Given the description of an element on the screen output the (x, y) to click on. 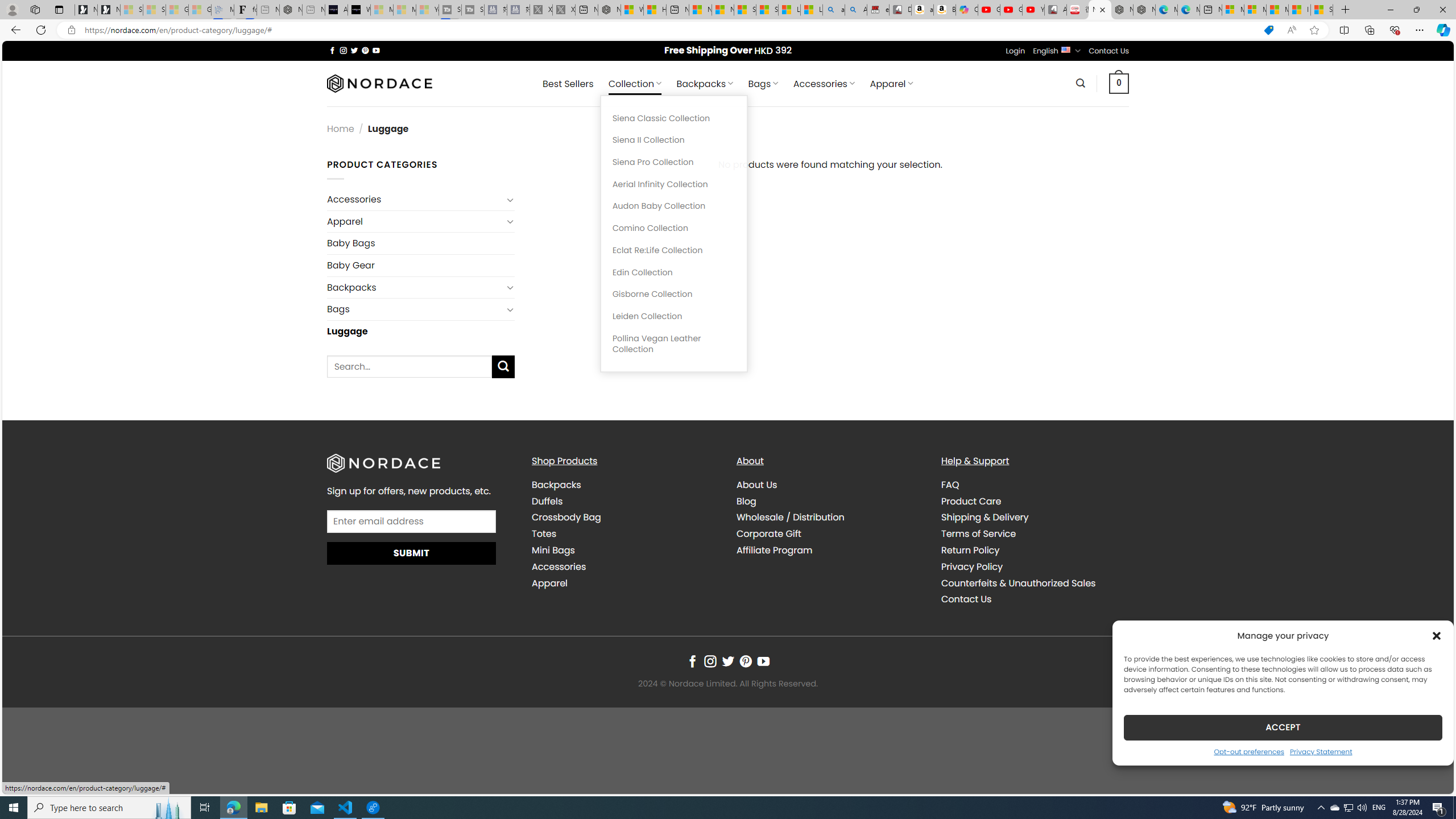
Siena II Collection (672, 140)
What's the best AI voice generator? - voice.ai (359, 9)
Aerial Infinity Collection (672, 183)
 0  (1118, 83)
Nordace - Luggage (1099, 9)
Microsoft Start Sports - Sleeping (381, 9)
Baby Gear (421, 264)
I Gained 20 Pounds of Muscle in 30 Days! | Watch (1300, 9)
Huge shark washes ashore at New York City beach | Watch (655, 9)
Return Policy (1034, 549)
Login (1015, 50)
Audon Baby Collection (672, 205)
